Given the description of an element on the screen output the (x, y) to click on. 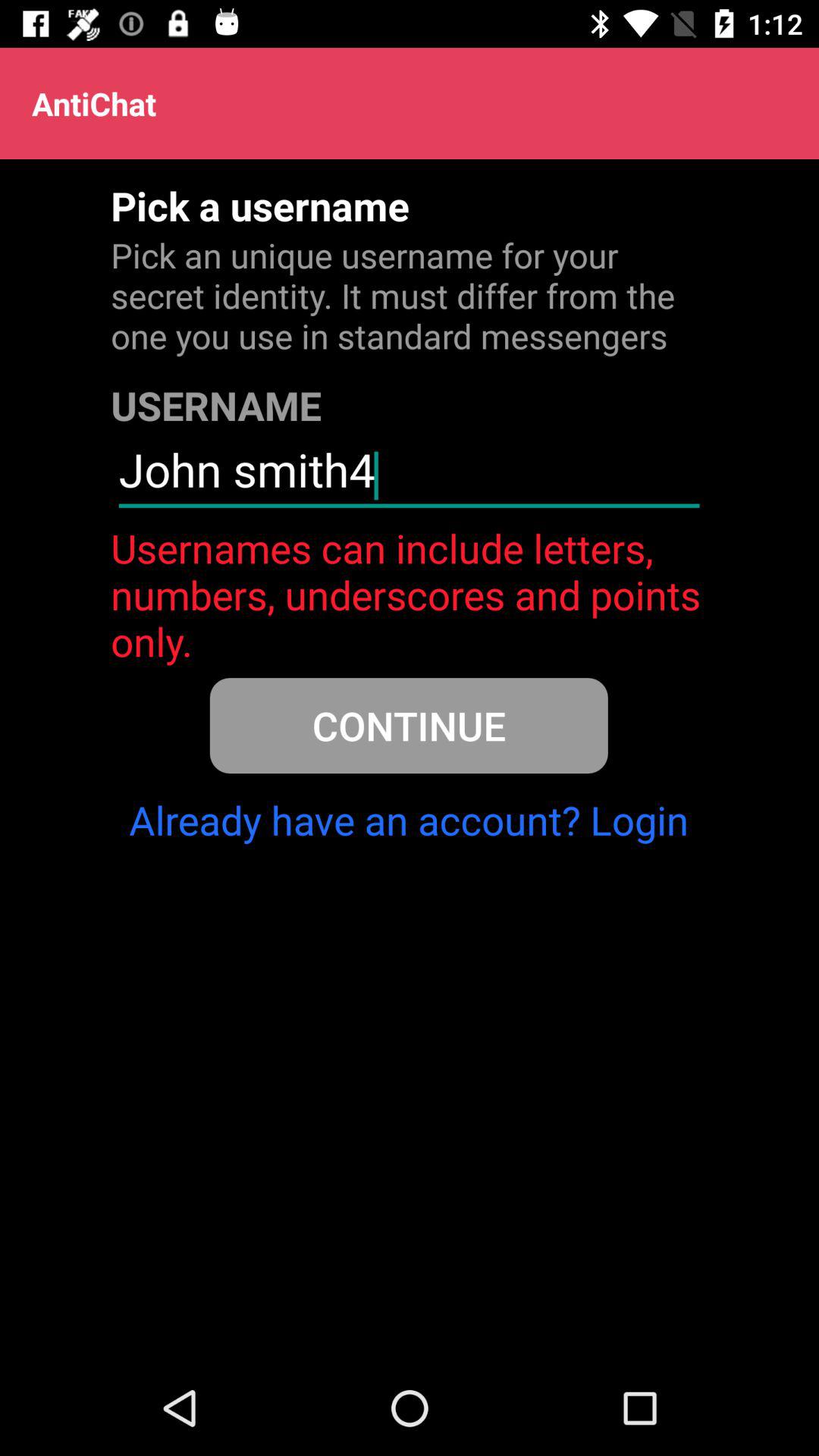
flip to the already have an (408, 819)
